Given the description of an element on the screen output the (x, y) to click on. 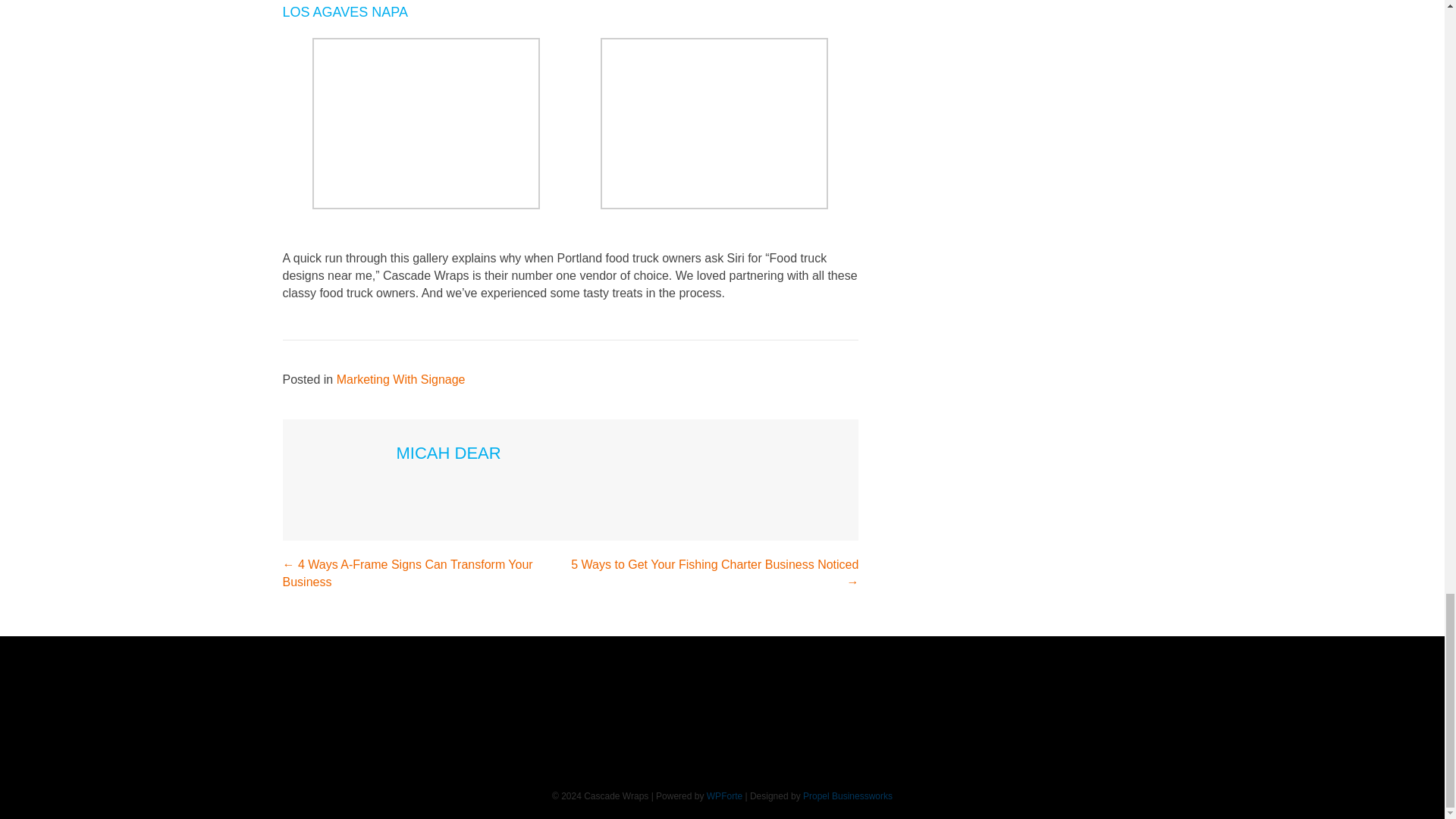
Marketing With Signage (400, 379)
